Given the description of an element on the screen output the (x, y) to click on. 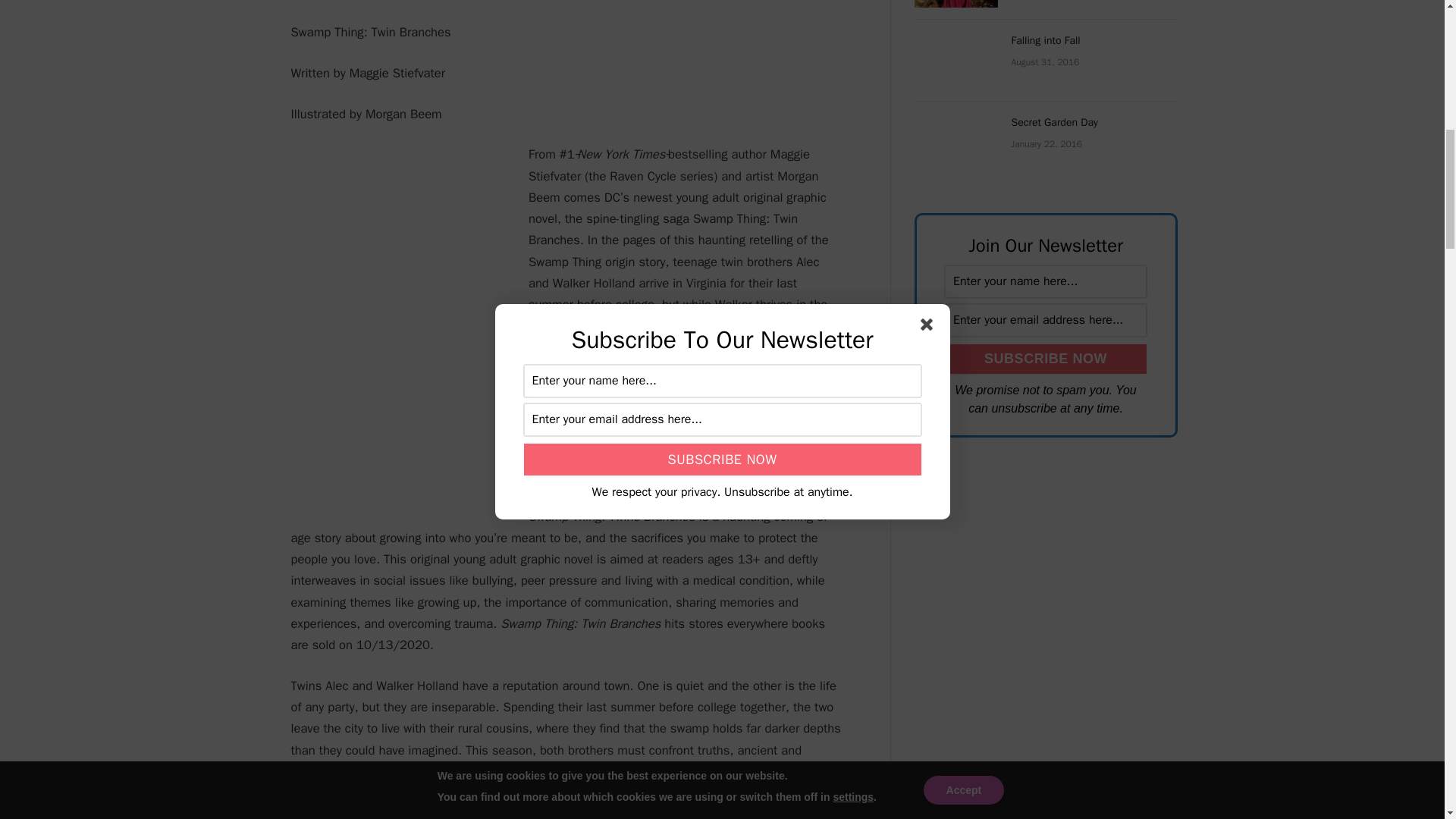
Subscribe Now (1045, 358)
